Given the description of an element on the screen output the (x, y) to click on. 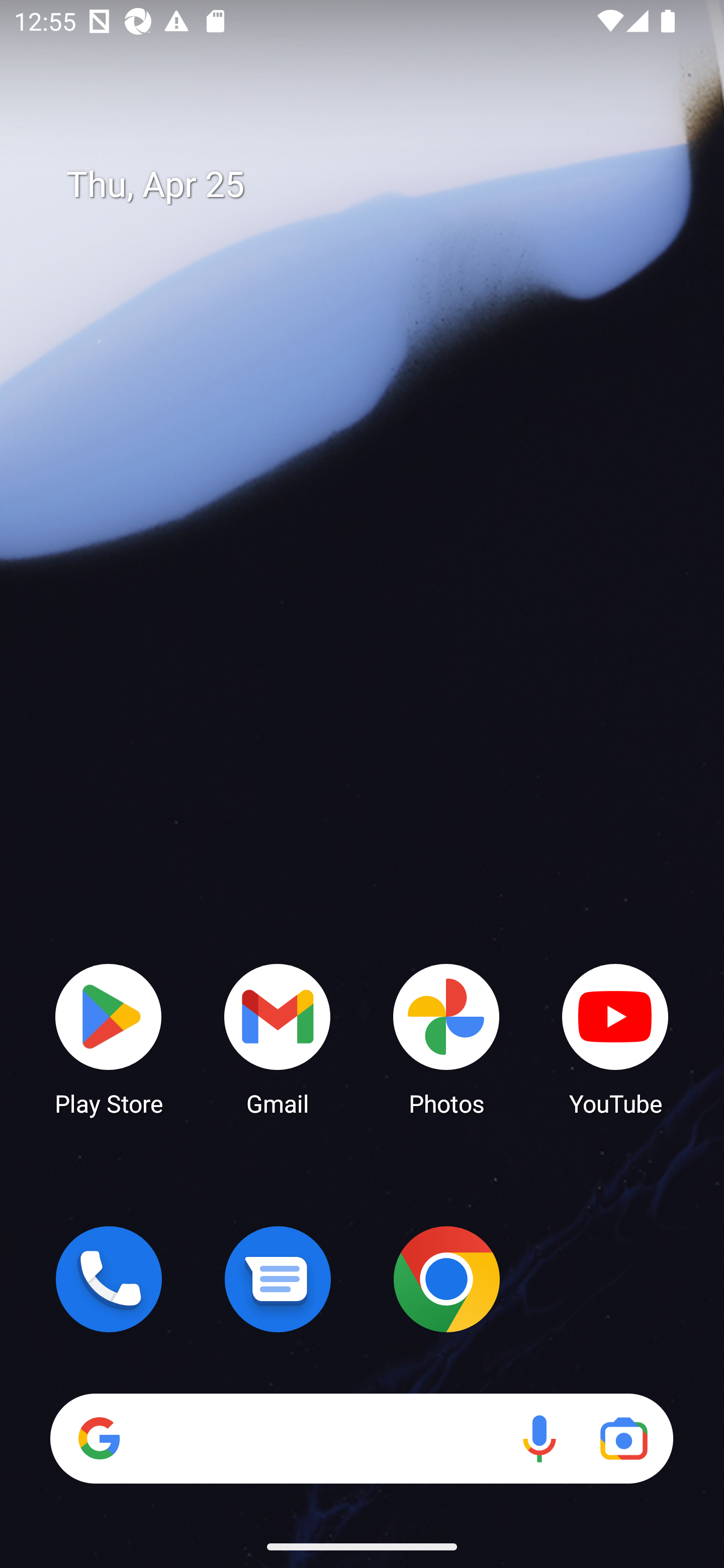
Thu, Apr 25 (375, 184)
Play Store (108, 1038)
Gmail (277, 1038)
Photos (445, 1038)
YouTube (615, 1038)
Phone (108, 1279)
Messages (277, 1279)
Chrome (446, 1279)
Search Voice search Google Lens (361, 1438)
Voice search (539, 1438)
Google Lens (623, 1438)
